Given the description of an element on the screen output the (x, y) to click on. 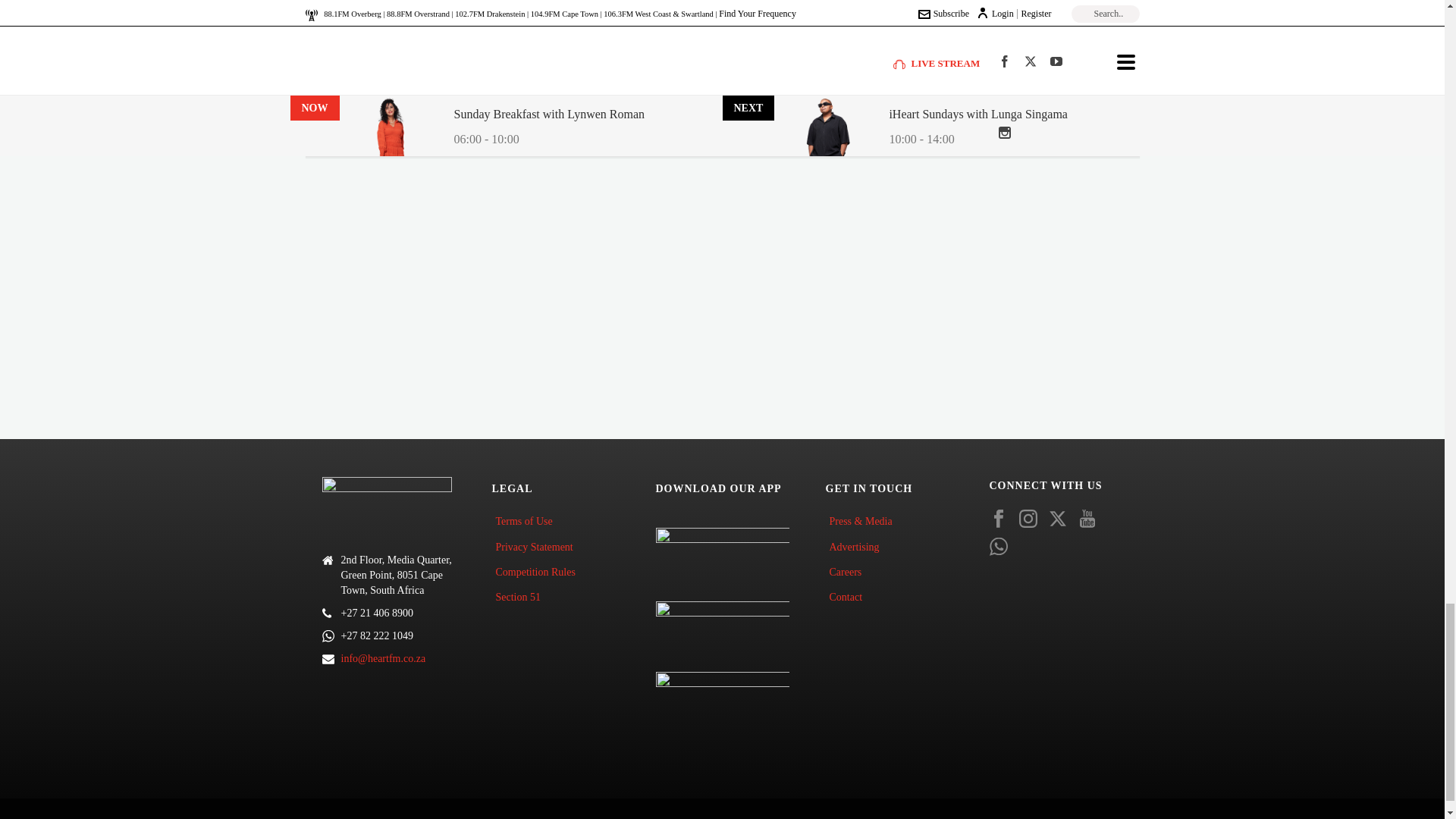
Follow Us on instagram (1027, 519)
Oudtshoorn wants to be declared a disaster area (418, 3)
Terms of Use (527, 520)
Alleged killer arrested (364, 66)
Wendy Kloppers' alleged murderer in court (408, 33)
Privacy Statement (537, 546)
Advocacy group slams decision to release killer cop (427, 132)
Follow Us on facebook (997, 519)
Follow Us on youtube (1087, 519)
Water outage for some Cape Town suburbs (408, 99)
Follow Us on twitter (1056, 519)
Competition Rules (539, 571)
Follow Us on whatsapp (997, 547)
Section 51 (521, 596)
